Given the description of an element on the screen output the (x, y) to click on. 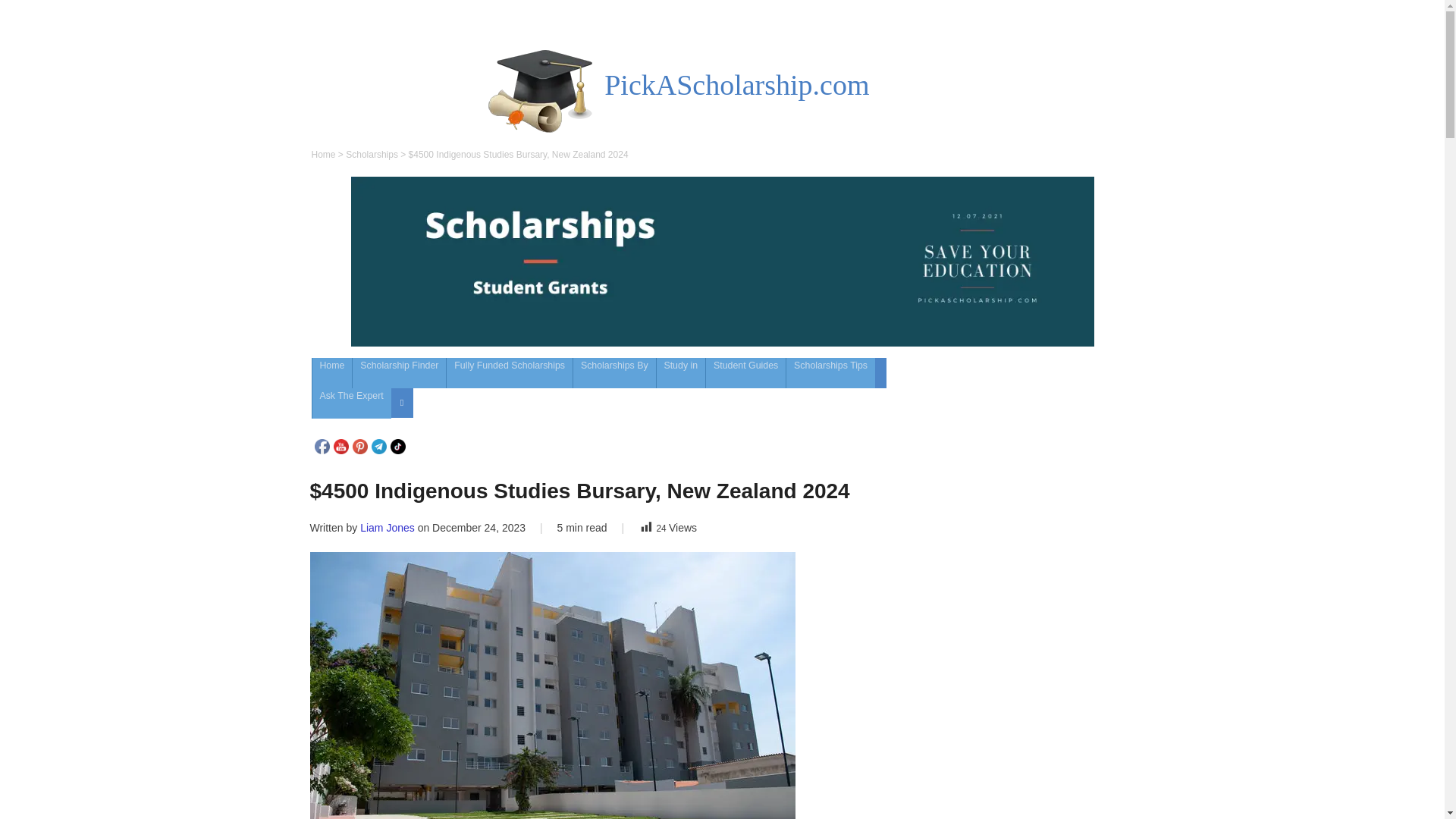
Pinterest (359, 446)
Facebook (321, 446)
PickAScholarship.com (736, 84)
Scholarships (371, 154)
YouTube (341, 446)
Fully Funded Scholarships (509, 372)
Telegram (379, 446)
Home (322, 154)
Go to PickAScholarship.com. (322, 154)
Home (332, 372)
